Given the description of an element on the screen output the (x, y) to click on. 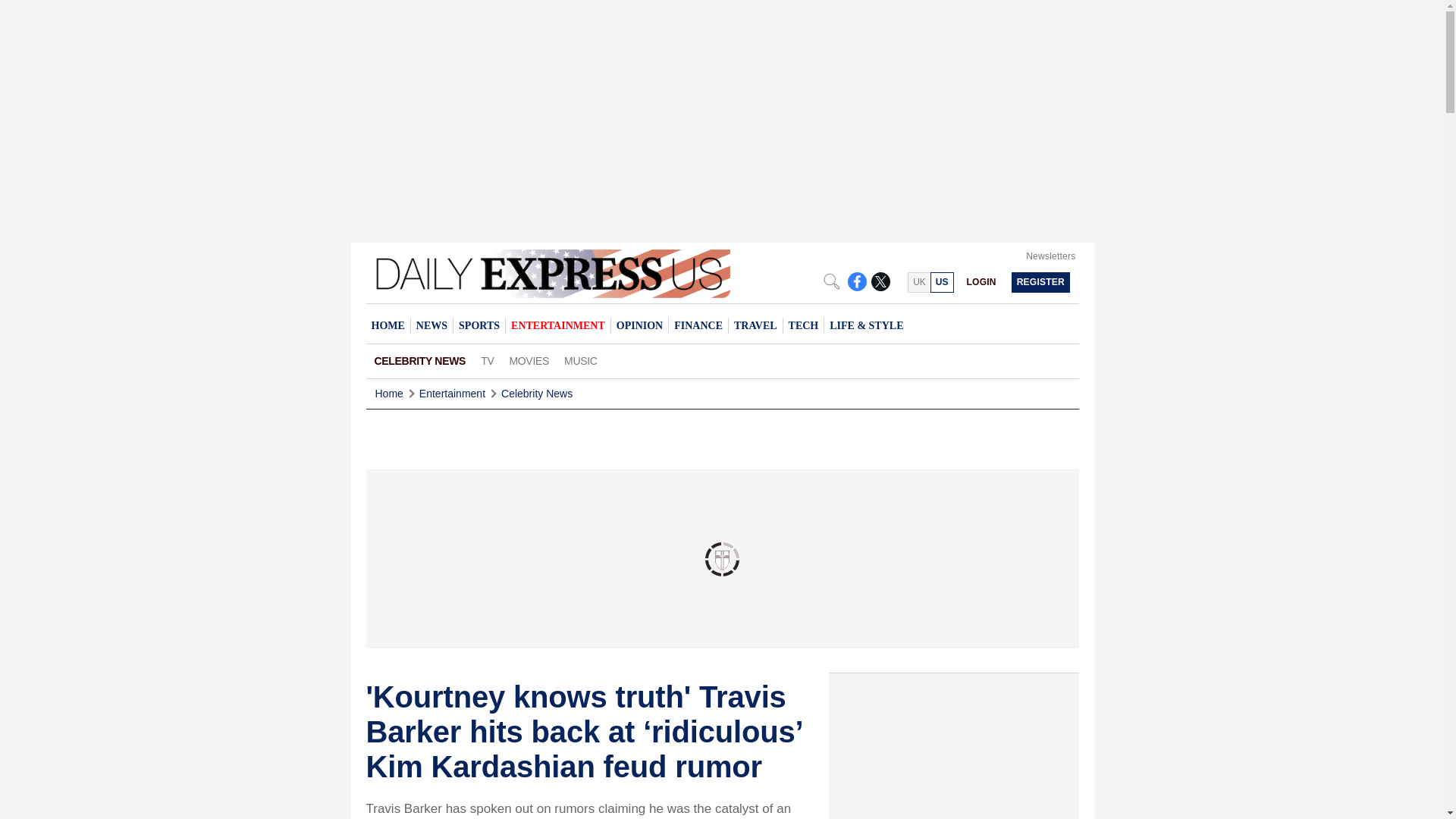
TRAVEL (755, 325)
UK (918, 281)
Find us on Facebook (856, 281)
ENTERTAINMENT (557, 325)
TV (486, 361)
HOME (387, 325)
Home (388, 393)
US (941, 281)
MUSIC (580, 361)
Celebrity News (536, 393)
